Given the description of an element on the screen output the (x, y) to click on. 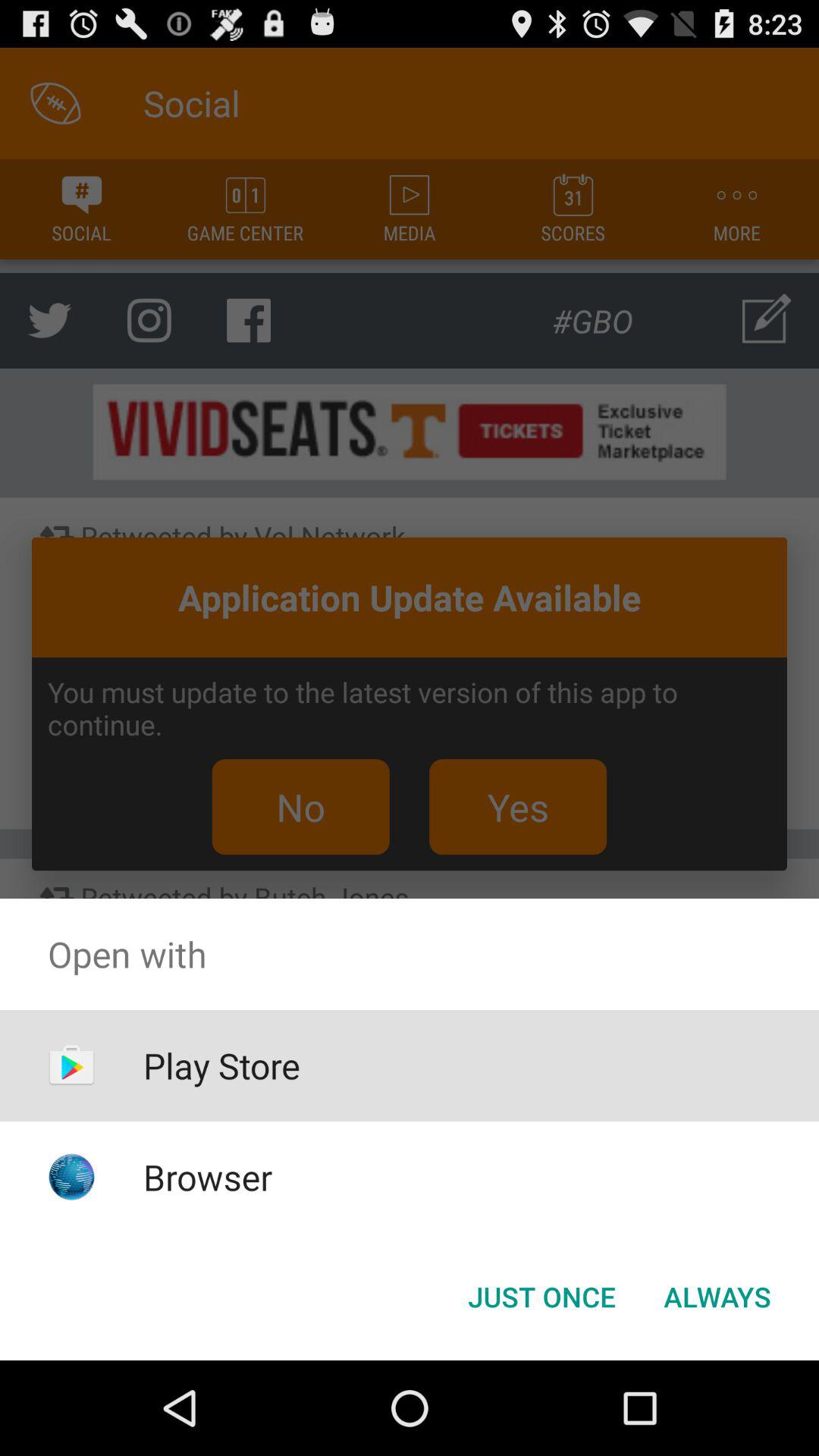
click button to the right of just once button (717, 1296)
